Given the description of an element on the screen output the (x, y) to click on. 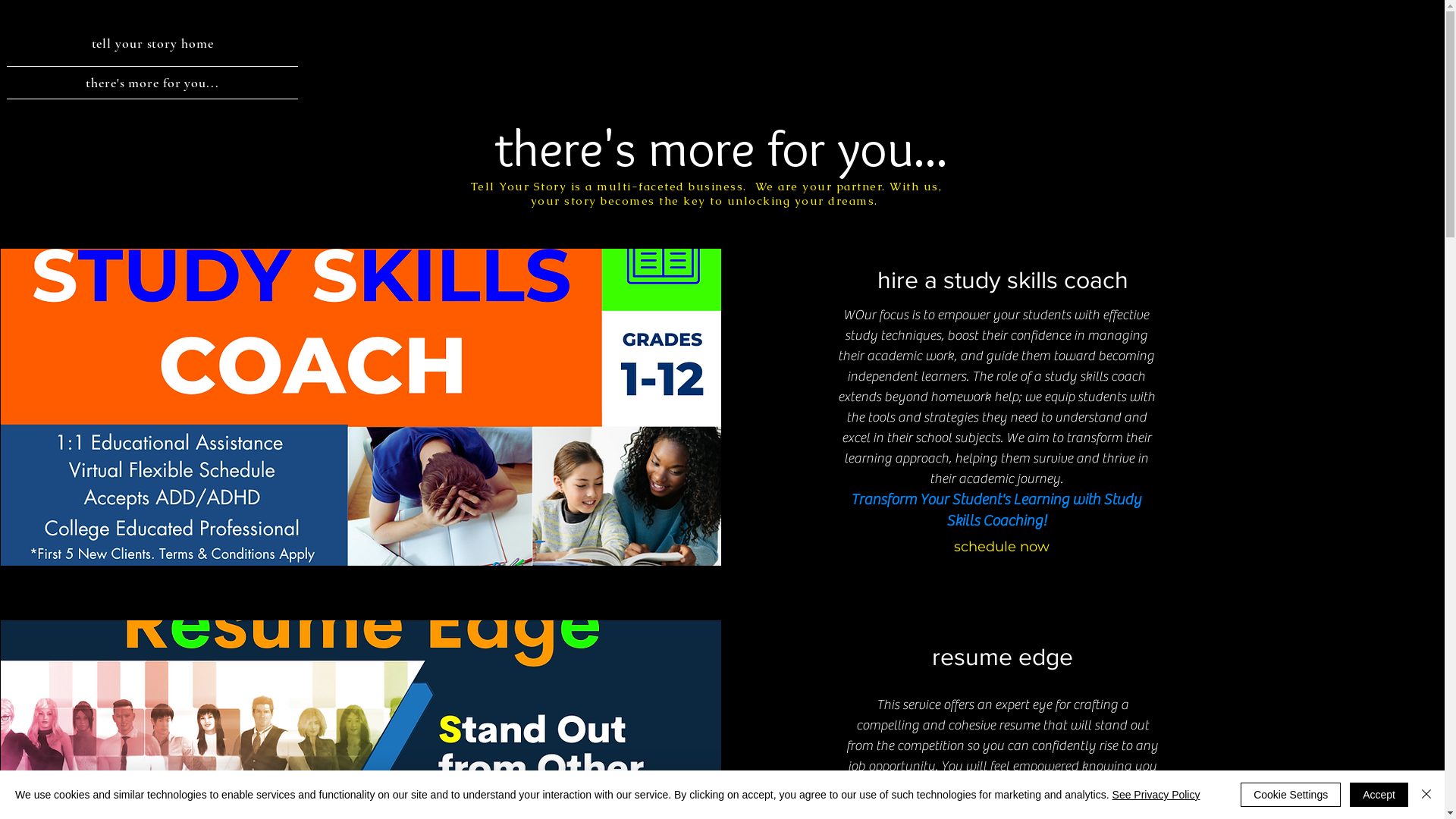
there's more for you... Element type: text (152, 82)
See Privacy Policy Element type: text (1156, 794)
Accept Element type: text (1378, 794)
tell your story home Element type: text (152, 42)
schedule now Element type: text (1001, 546)
Cookie Settings Element type: text (1290, 794)
